Given the description of an element on the screen output the (x, y) to click on. 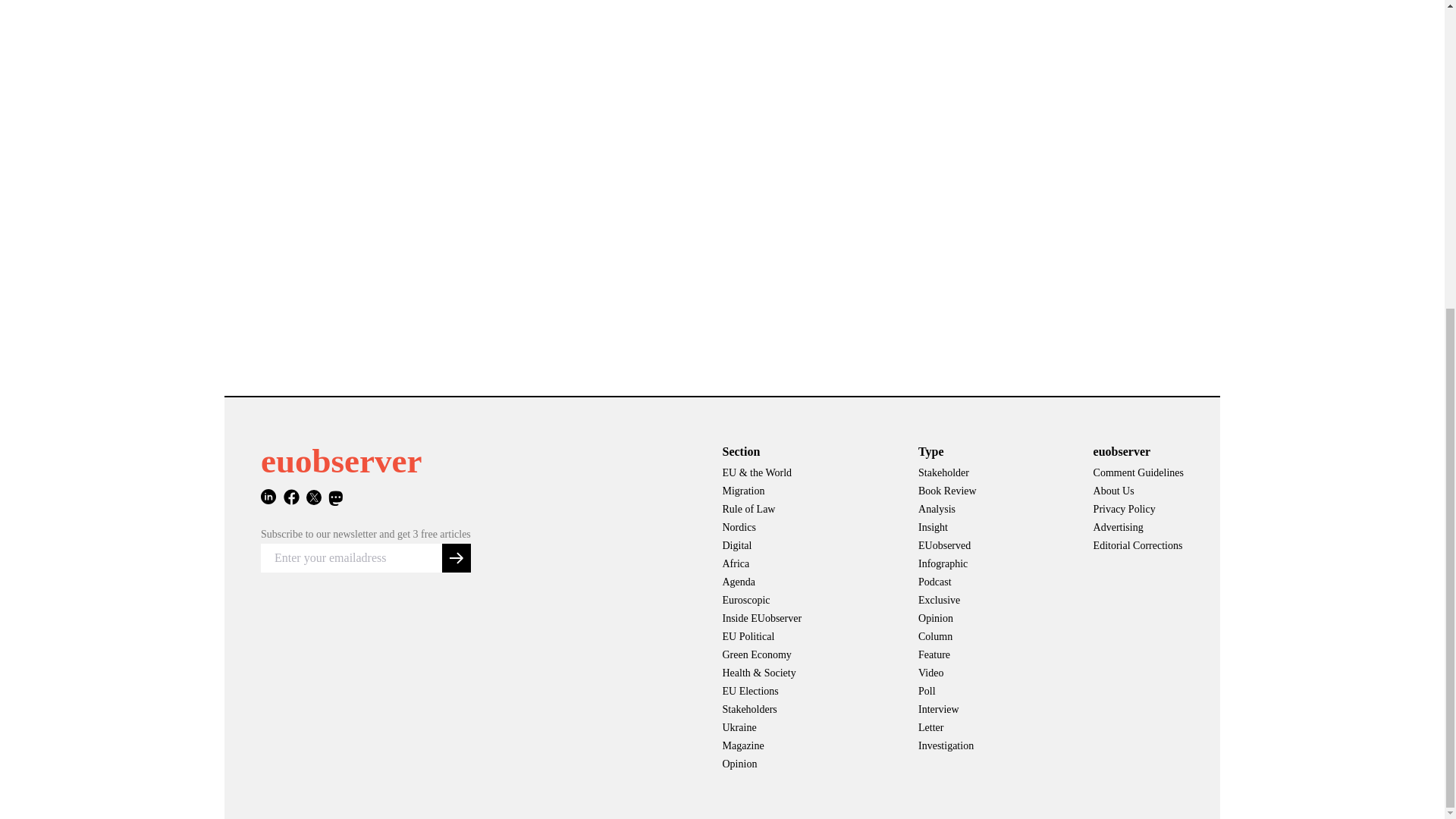
Exclusive (947, 600)
Stakeholder (947, 473)
Stakeholders (762, 710)
Poll (947, 691)
Africa (762, 564)
EUobserved (947, 546)
Ukraine (762, 728)
Feature (947, 655)
euobserver (341, 461)
Analysis (947, 509)
Rule of Law (762, 509)
Infographic (947, 564)
Inside EUobserver (762, 618)
Video (947, 673)
Green Economy (762, 655)
